Given the description of an element on the screen output the (x, y) to click on. 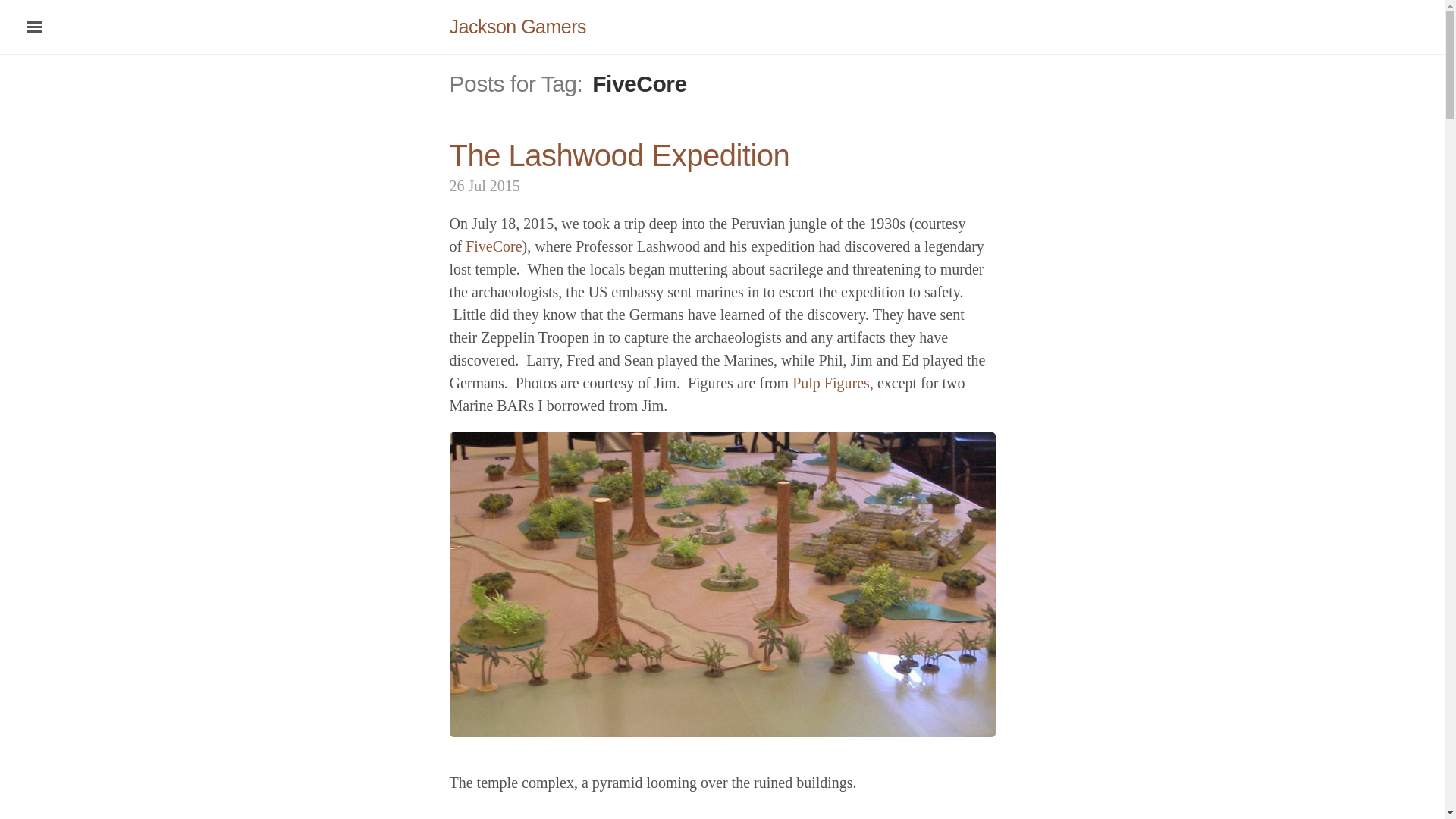
Jackson Gamers (517, 25)
FiveCore (493, 246)
Home (517, 25)
The Lashwood Expedition (618, 154)
Pulp Figures (830, 382)
